Given the description of an element on the screen output the (x, y) to click on. 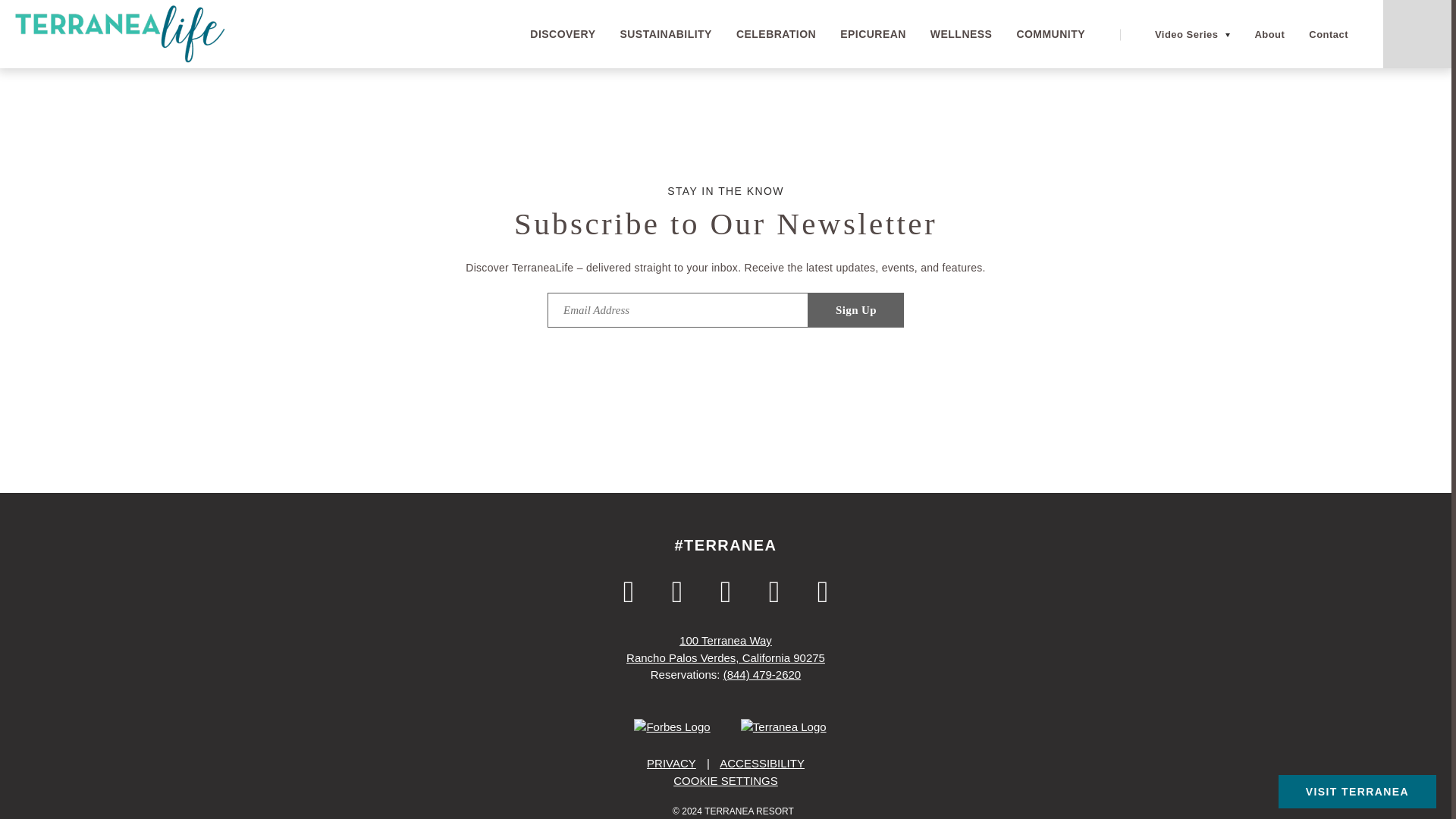
Open With Google Maps (725, 648)
